Given the description of an element on the screen output the (x, y) to click on. 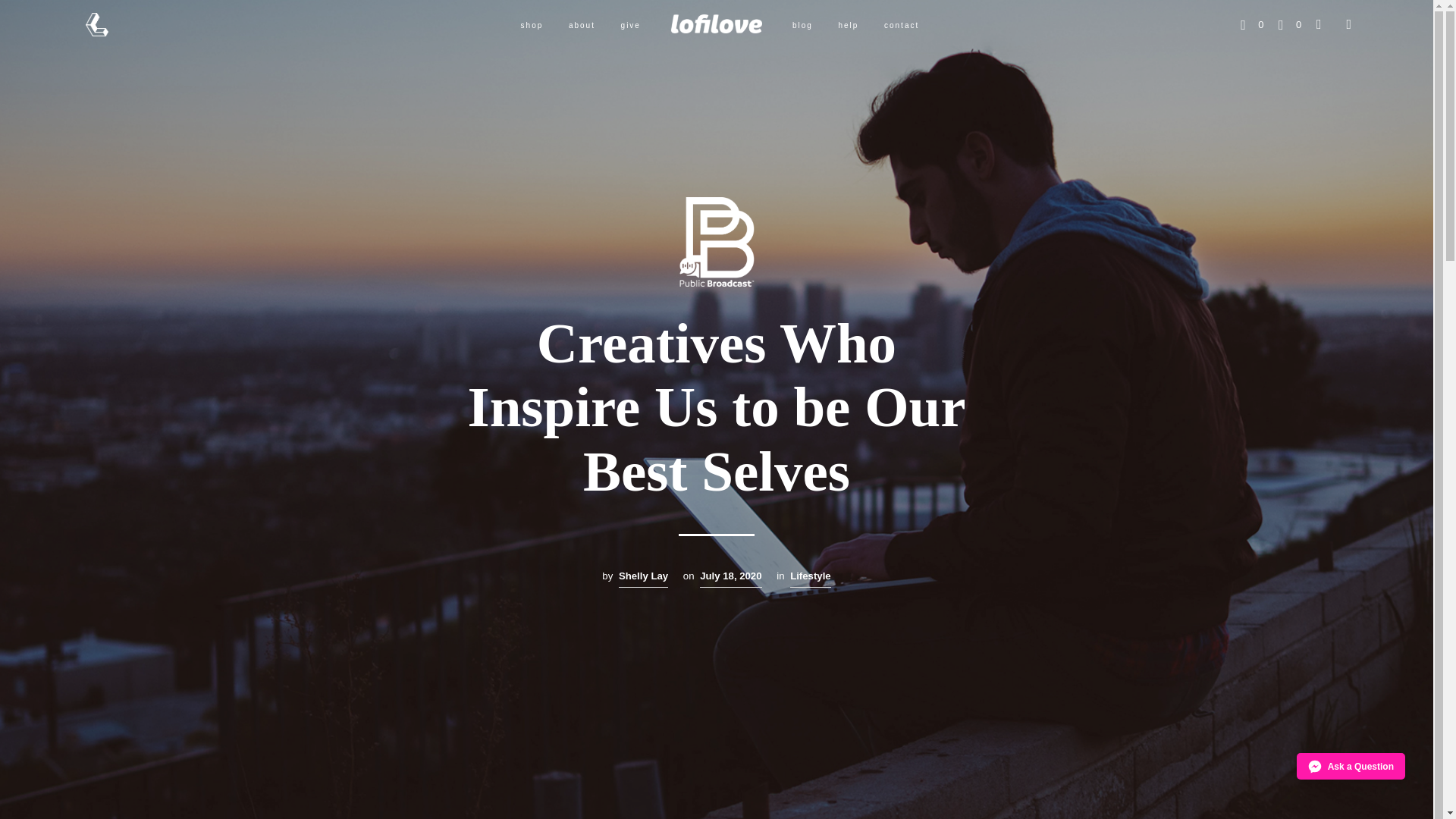
about (582, 25)
Lifestyle (810, 578)
contact (901, 25)
help (848, 25)
Shelly Lay (643, 578)
View all posts by Shelly Lay (643, 578)
Permalink to Creatives Who Inspire Us to be Our Best Selves (730, 578)
shop (531, 25)
0 (1251, 24)
blog (802, 25)
0 (1289, 24)
give (631, 25)
July 18, 2020 (730, 578)
